Given the description of an element on the screen output the (x, y) to click on. 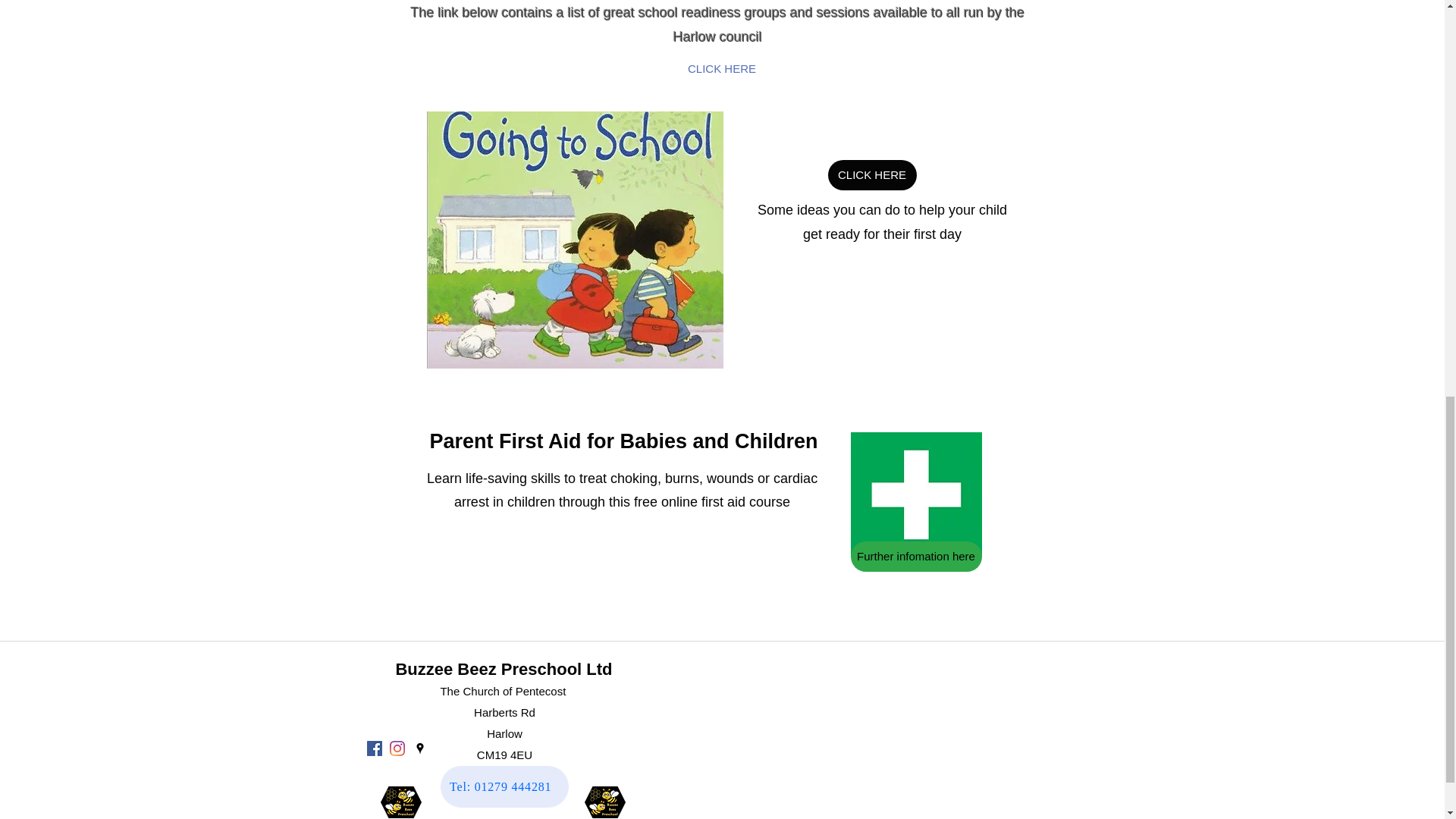
Tel: 01279 444281   (503, 786)
CLICK HERE (721, 68)
Further infomation here (915, 556)
CLICK HERE (872, 174)
Google Maps (892, 734)
